Given the description of an element on the screen output the (x, y) to click on. 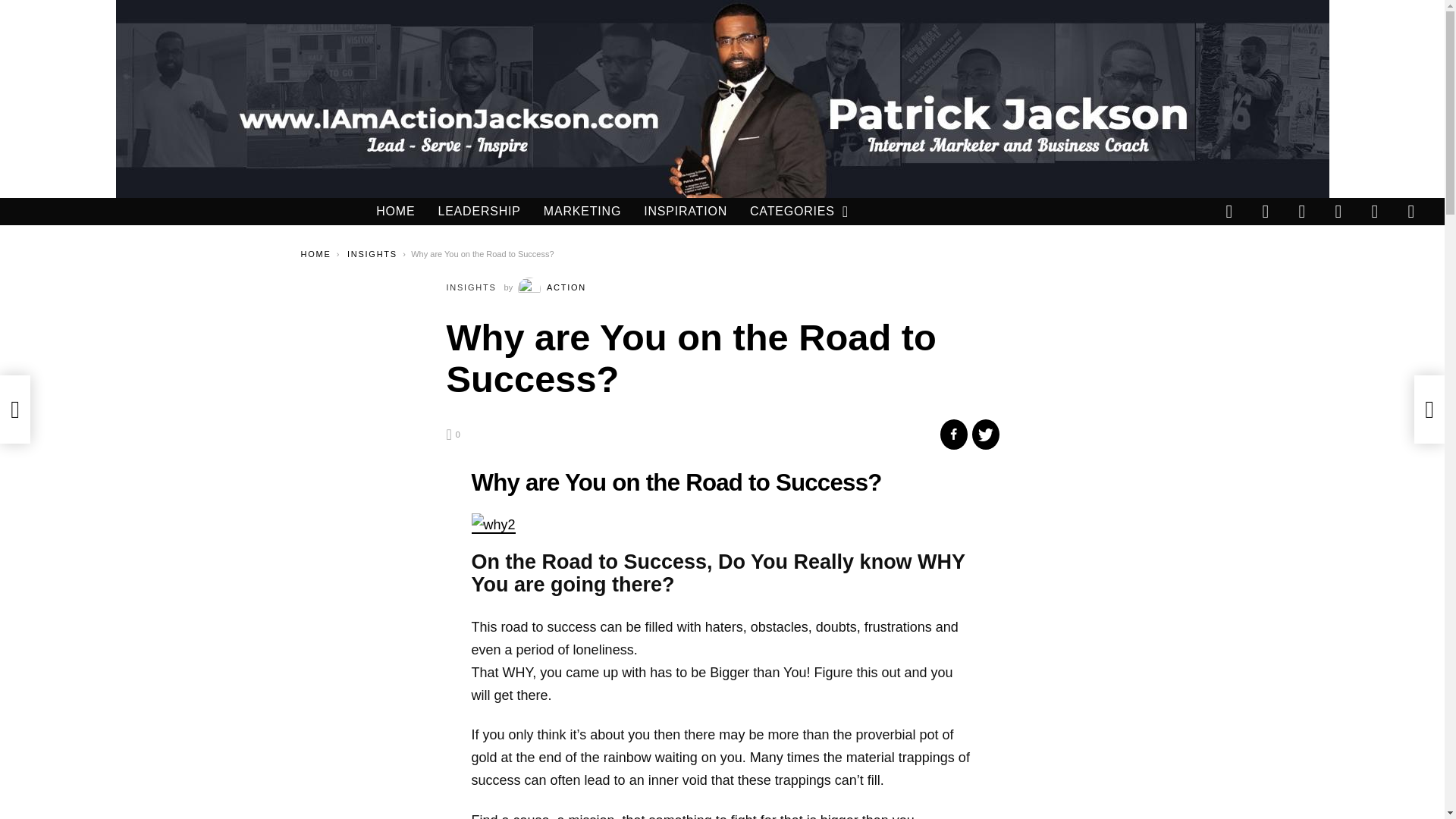
INSIGHTS (470, 287)
HOME (314, 253)
Posts by Action (552, 286)
HOME (394, 210)
ACTION (552, 286)
INSIGHTS (372, 253)
MARKETING (582, 210)
LEADERSHIP (478, 210)
INSPIRATION (684, 210)
CATEGORIES (791, 210)
